Given the description of an element on the screen output the (x, y) to click on. 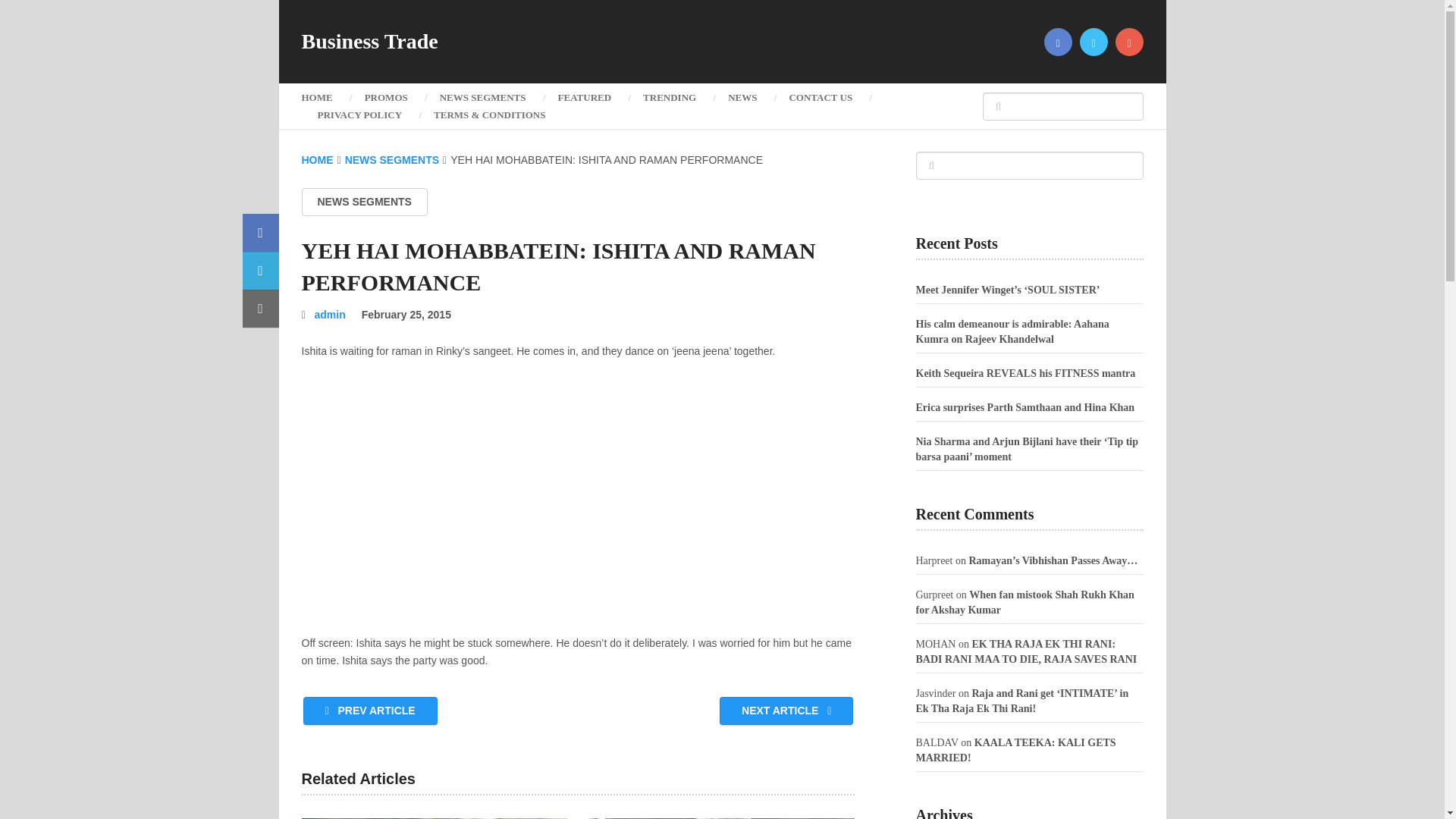
admin (330, 314)
Posts by admin (330, 314)
NEXT ARTICLE (786, 710)
View all posts in News Segments (364, 202)
PREV ARTICLE (370, 710)
NEWS SEGMENTS (392, 159)
NEWS (742, 97)
FEATURED (584, 97)
HOME (317, 159)
